Given the description of an element on the screen output the (x, y) to click on. 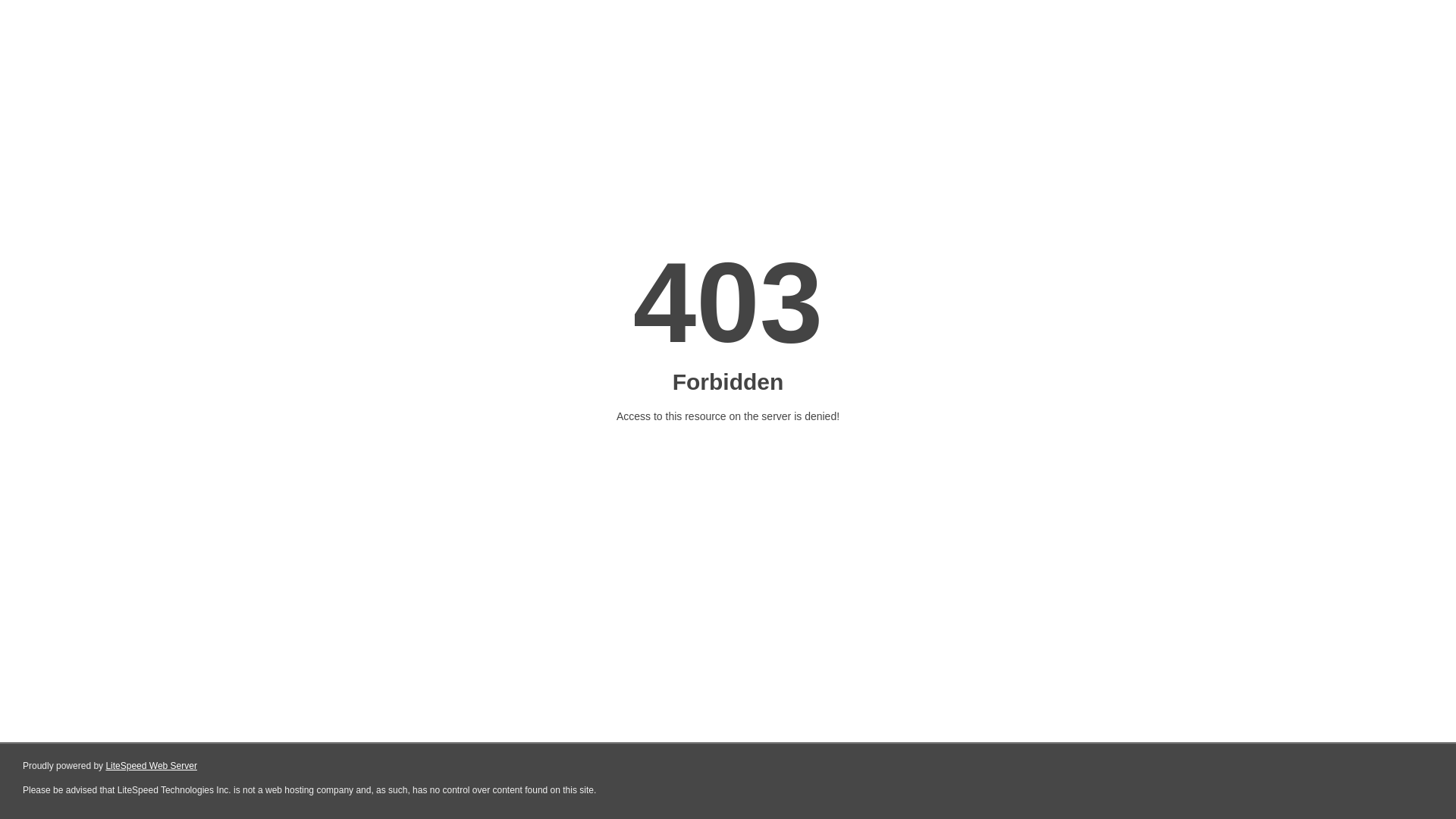
LiteSpeed Web Server Element type: text (151, 765)
